Given the description of an element on the screen output the (x, y) to click on. 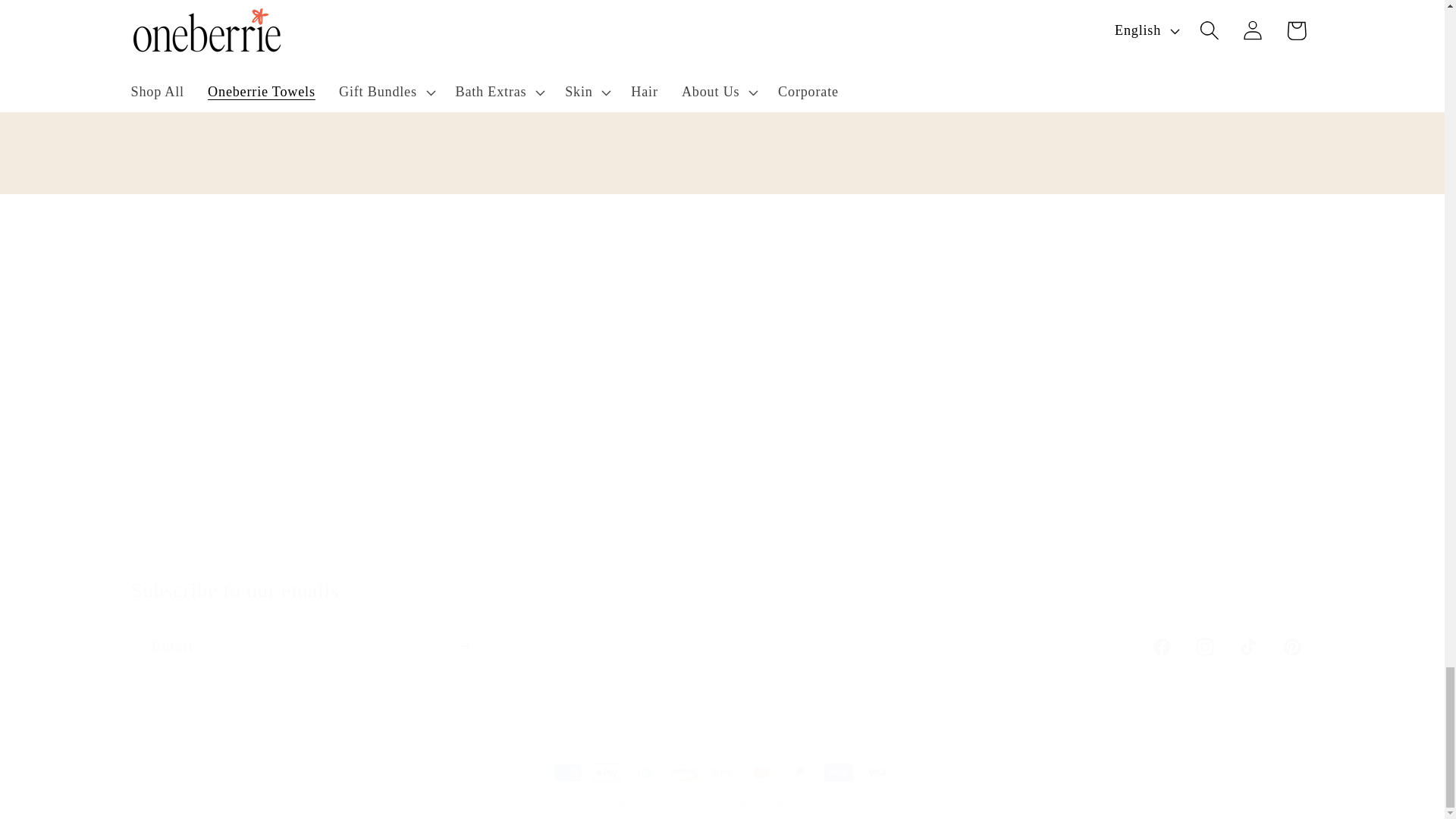
0 (1117, 116)
0 (326, 116)
0 (721, 116)
